Given the description of an element on the screen output the (x, y) to click on. 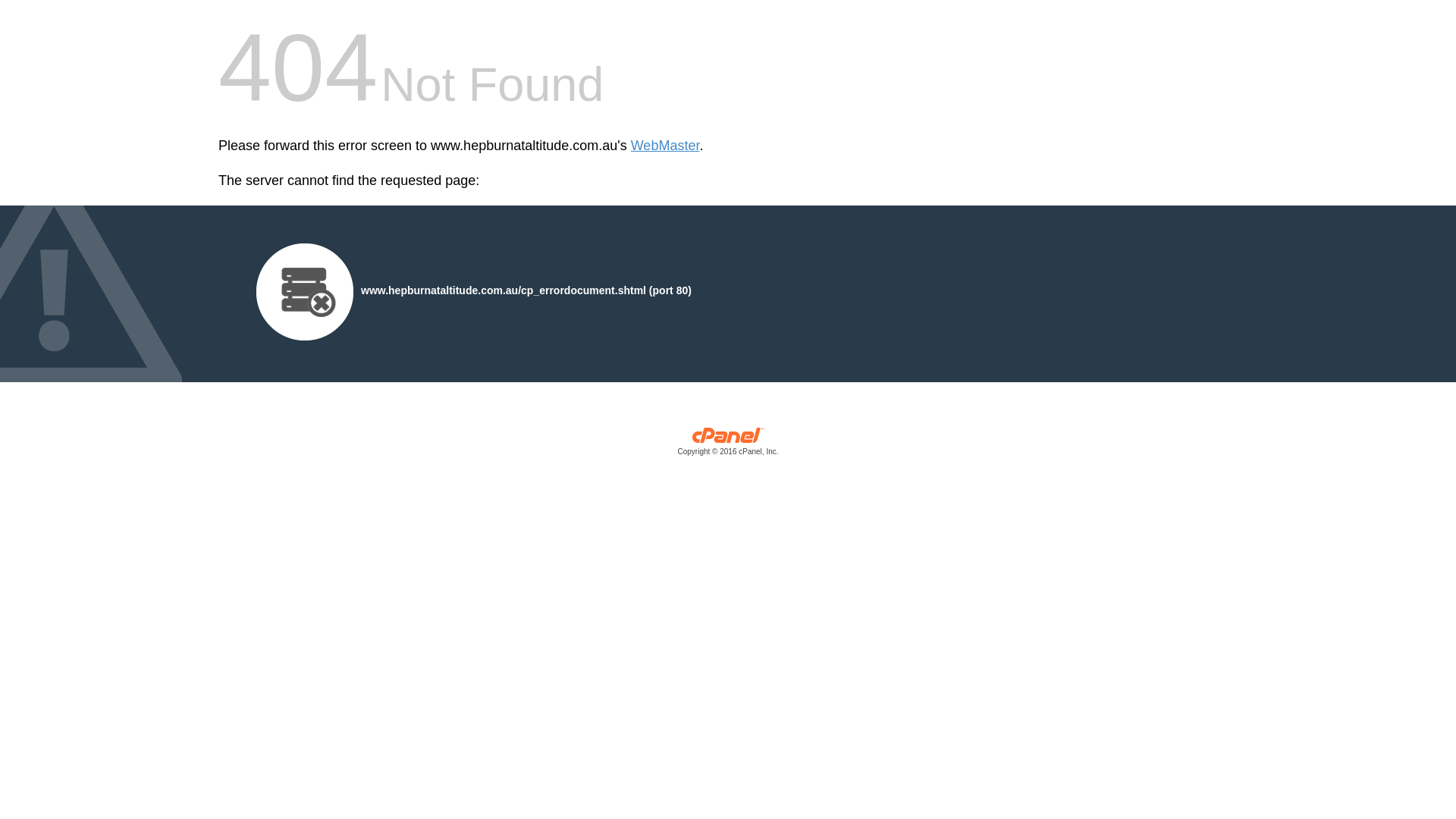
WebMaster Element type: text (664, 145)
